Given the description of an element on the screen output the (x, y) to click on. 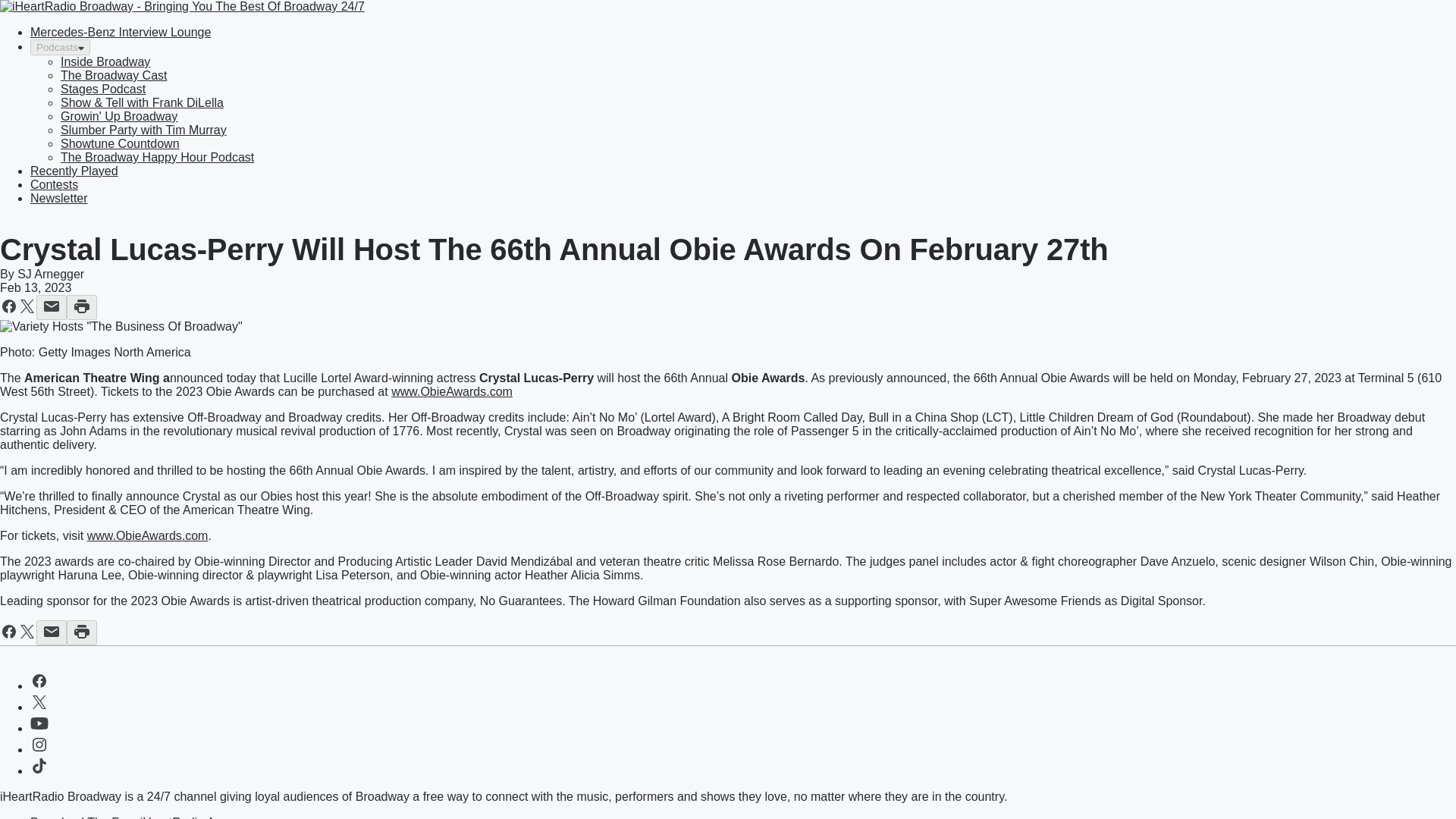
Download The Free iHeartRadio App (129, 817)
The Broadway Happy Hour Podcast (157, 156)
Recently Played (73, 170)
www.ObieAwards.com (451, 391)
Growin' Up Broadway (119, 115)
Podcasts (60, 47)
www.ObieAwards.com (147, 535)
Mercedes-Benz Interview Lounge (120, 31)
Slumber Party with Tim Murray (144, 129)
Contests (54, 184)
Stages Podcast (103, 88)
Newsletter (58, 197)
Inside Broadway (105, 61)
The Broadway Cast (114, 74)
Showtune Countdown (120, 143)
